Given the description of an element on the screen output the (x, y) to click on. 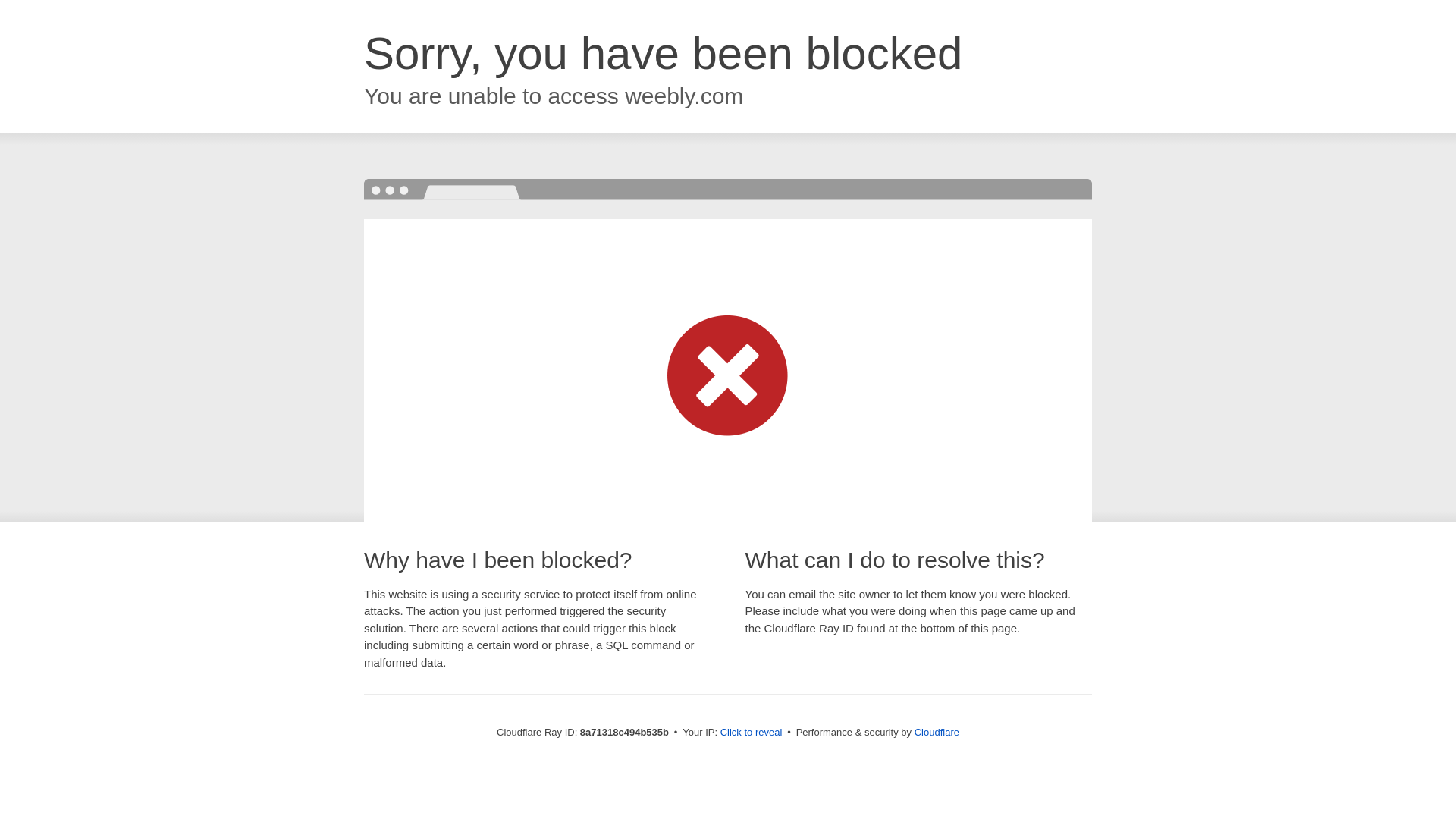
Cloudflare (936, 731)
Click to reveal (751, 732)
